Given the description of an element on the screen output the (x, y) to click on. 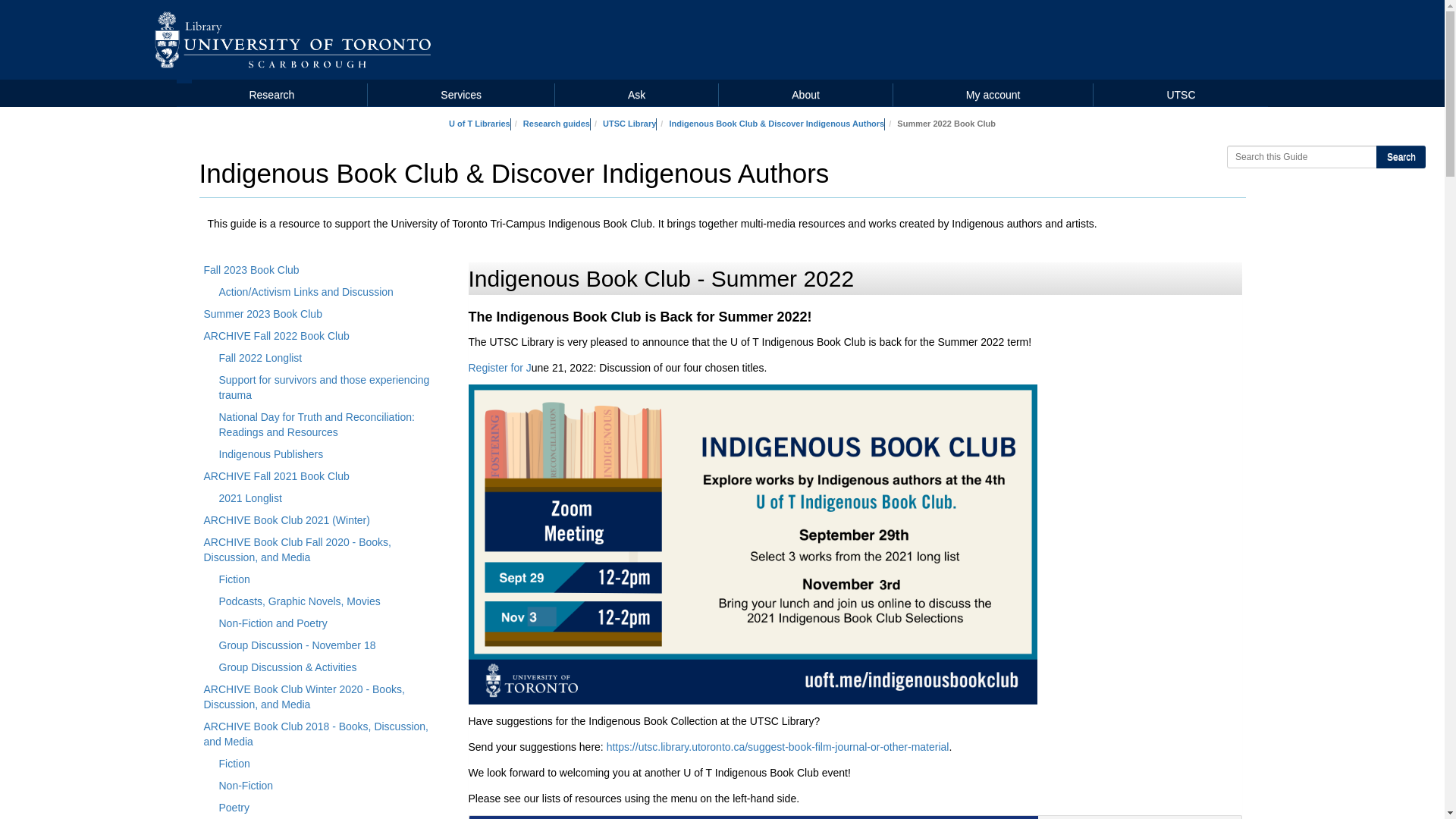
About (805, 94)
Non-Fiction and Poetry (331, 625)
Podcasts, Graphic Novels, Movies (331, 603)
2021 Longlist (331, 500)
ARCHIVE Book Club 2018 - Books, Discussion, and Media (324, 736)
Summer 2023 Book Club (324, 316)
U of T Libraries (479, 123)
Non-Fiction (331, 788)
Fall 2022 Longlist (331, 360)
Poetry (331, 809)
ARCHIVE Book Club Fall 2020 - Books, Discussion, and Media (324, 552)
